Given the description of an element on the screen output the (x, y) to click on. 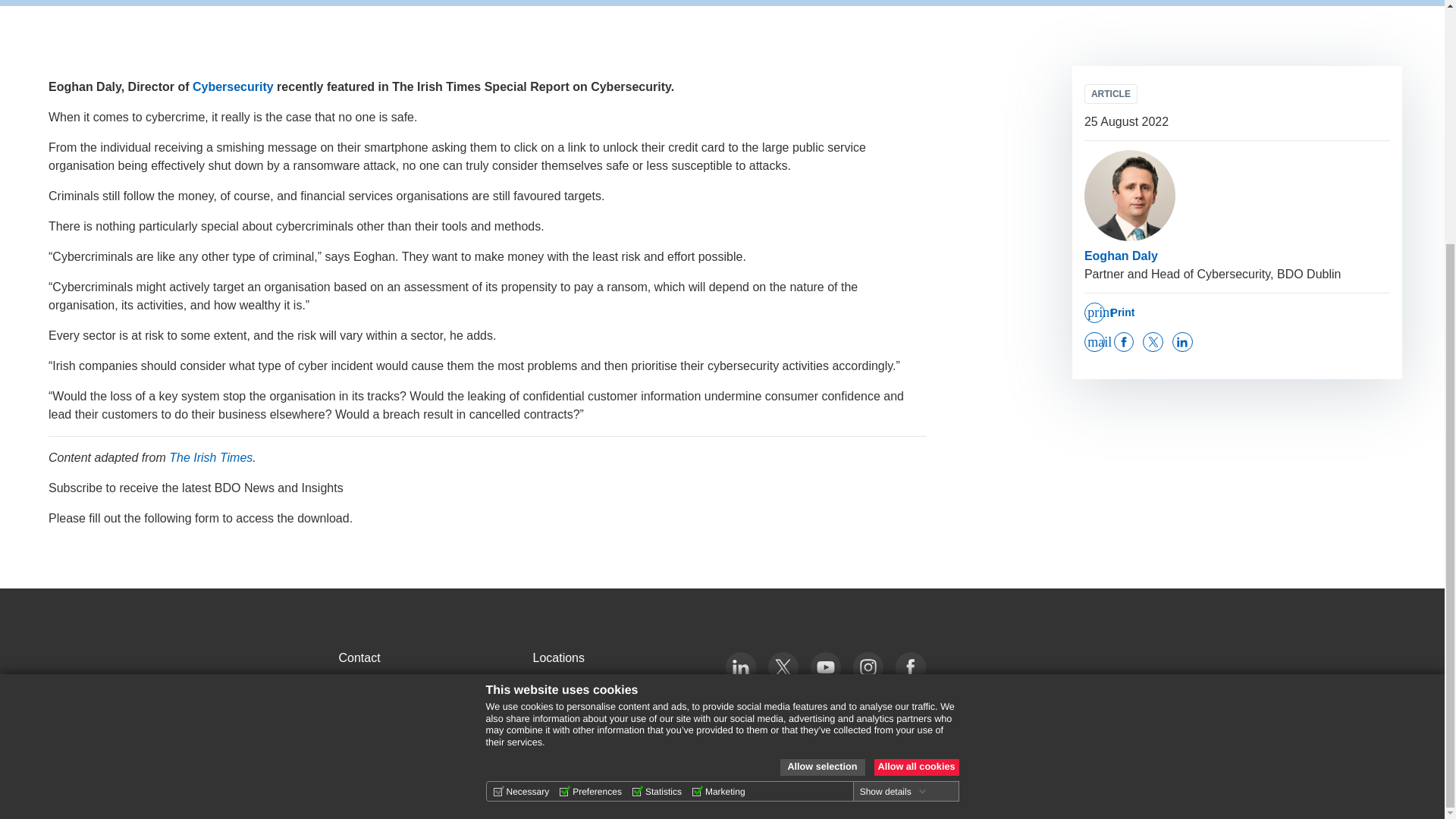
Show details (893, 453)
Allow selection (821, 428)
Allow all cookies (915, 428)
